Given the description of an element on the screen output the (x, y) to click on. 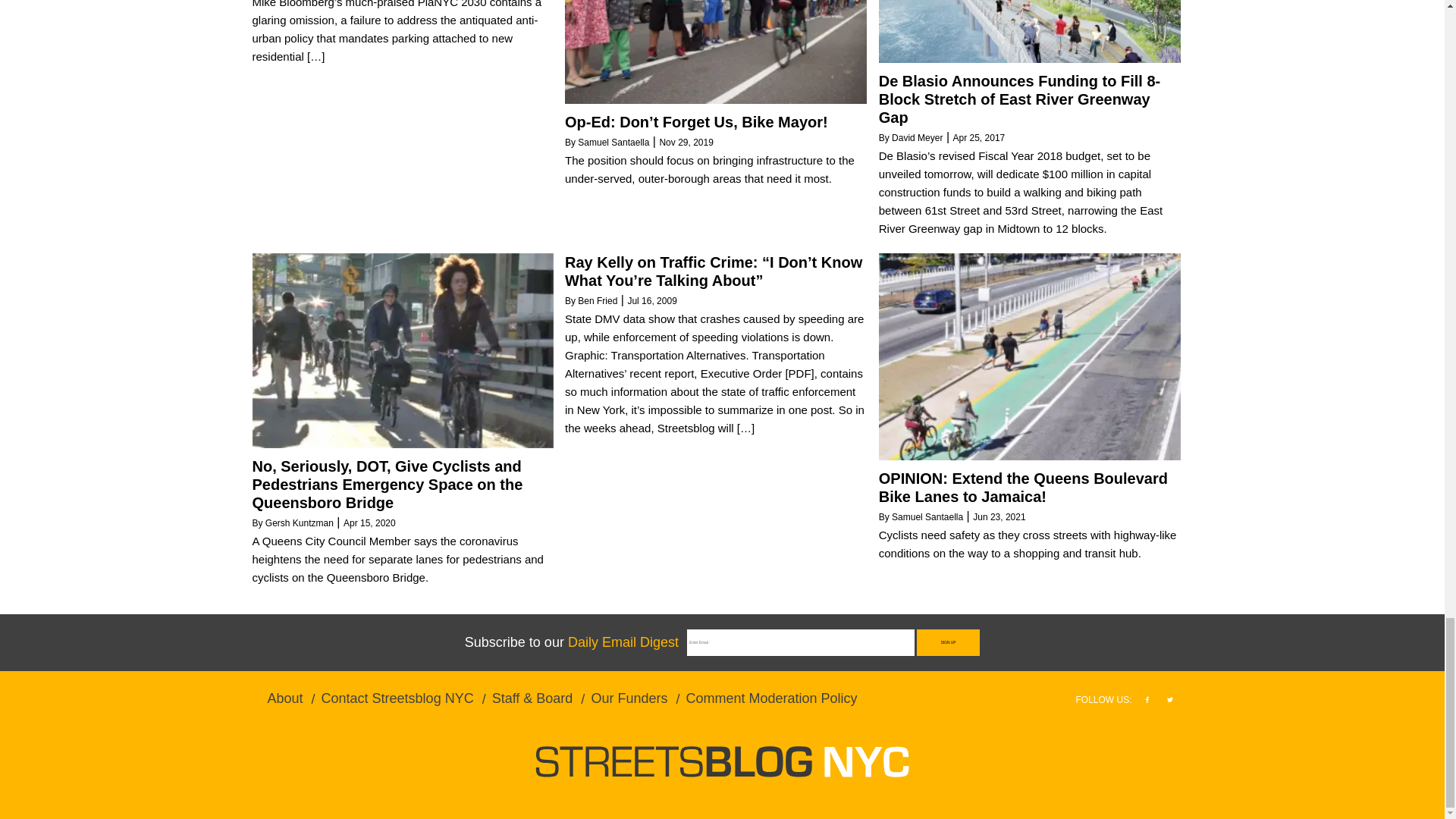
Streetsblog NYC Logo (721, 761)
